Given the description of an element on the screen output the (x, y) to click on. 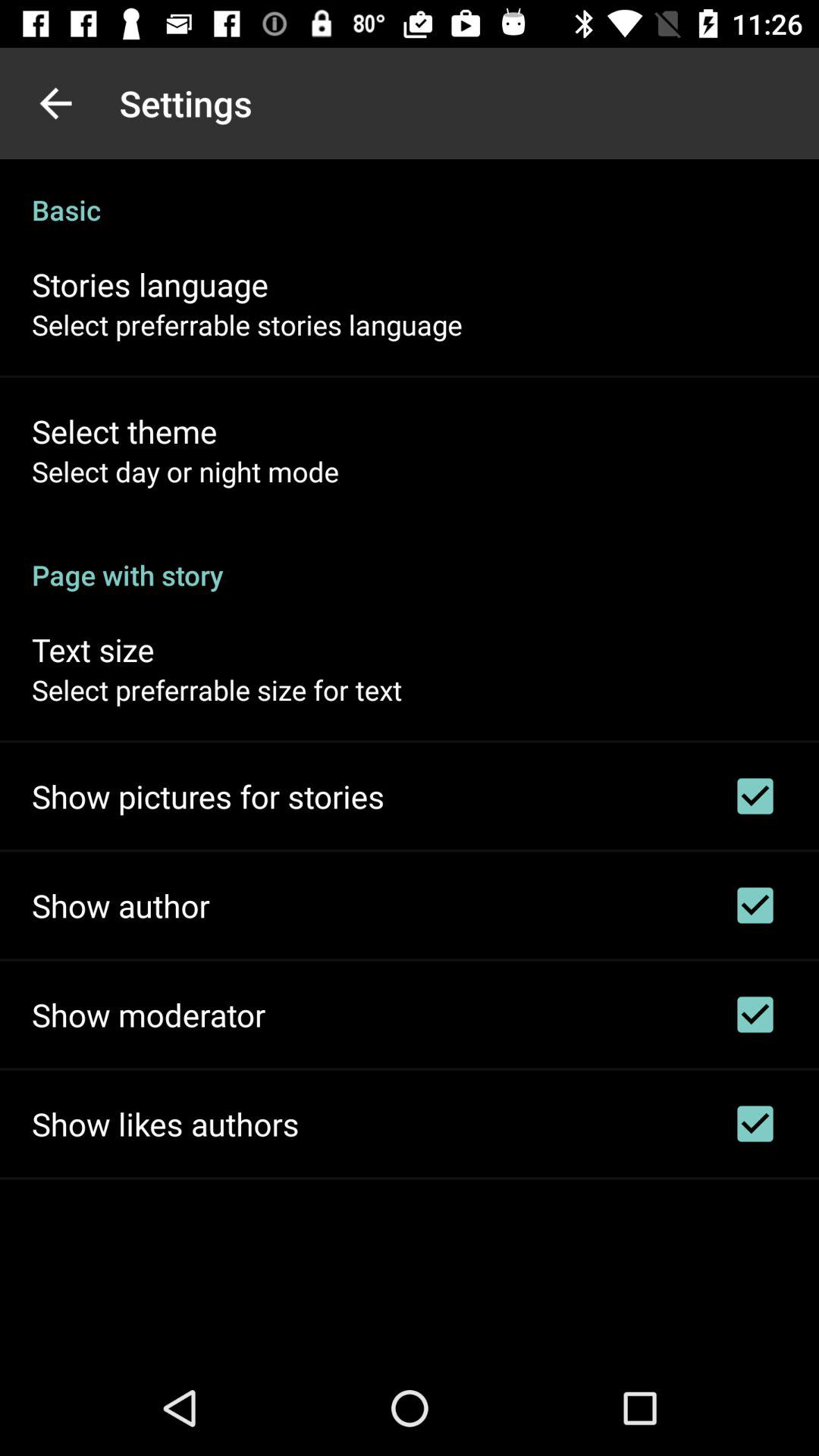
click the icon next to the settings app (55, 103)
